Given the description of an element on the screen output the (x, y) to click on. 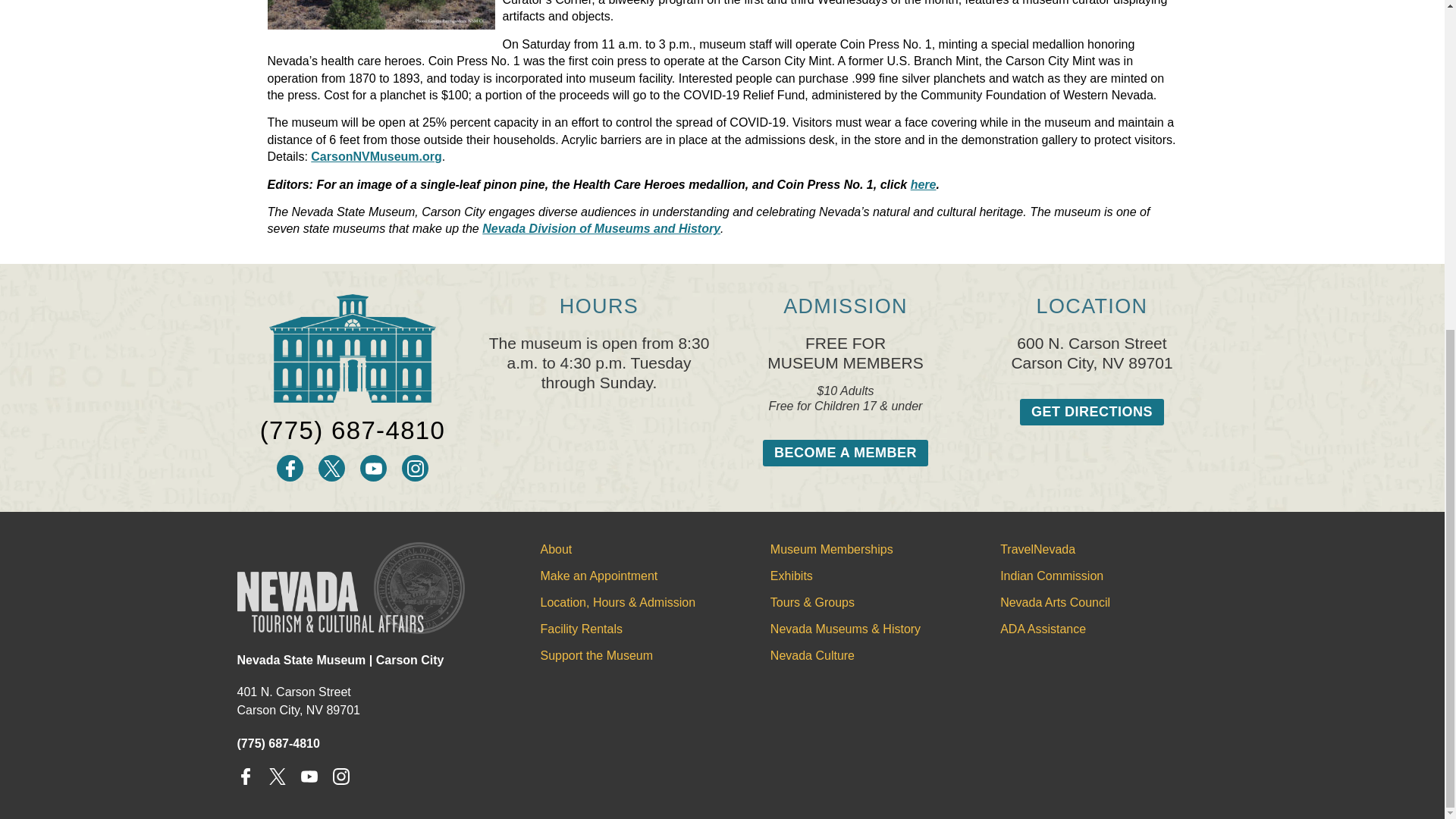
CarsonNVMuseum.org (376, 155)
Nevada Division of Museums and History (600, 228)
here (923, 184)
